Given the description of an element on the screen output the (x, y) to click on. 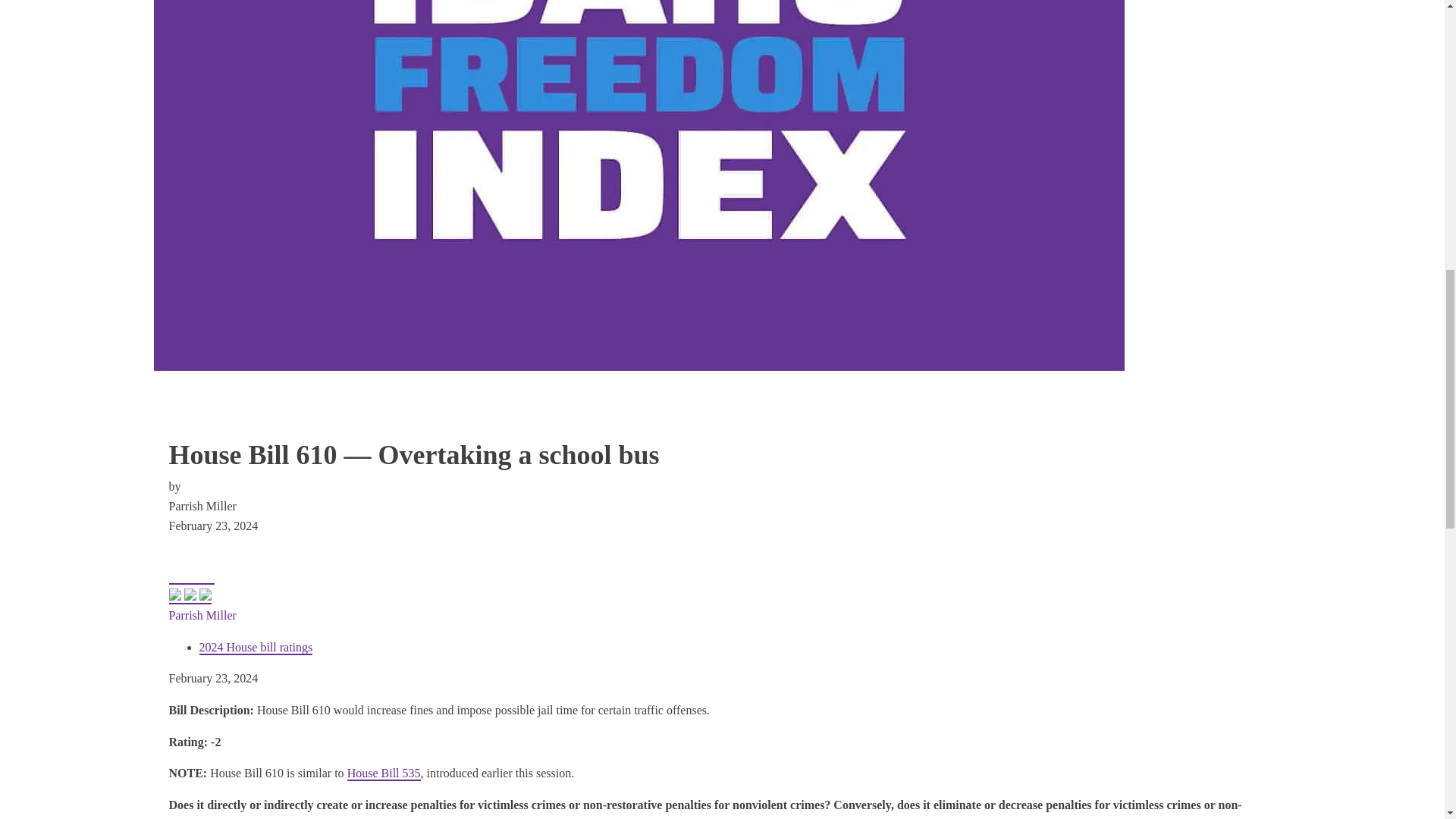
2024 House bill ratings (255, 647)
Parrish Miller (201, 615)
House Bill 535 (383, 773)
